Given the description of an element on the screen output the (x, y) to click on. 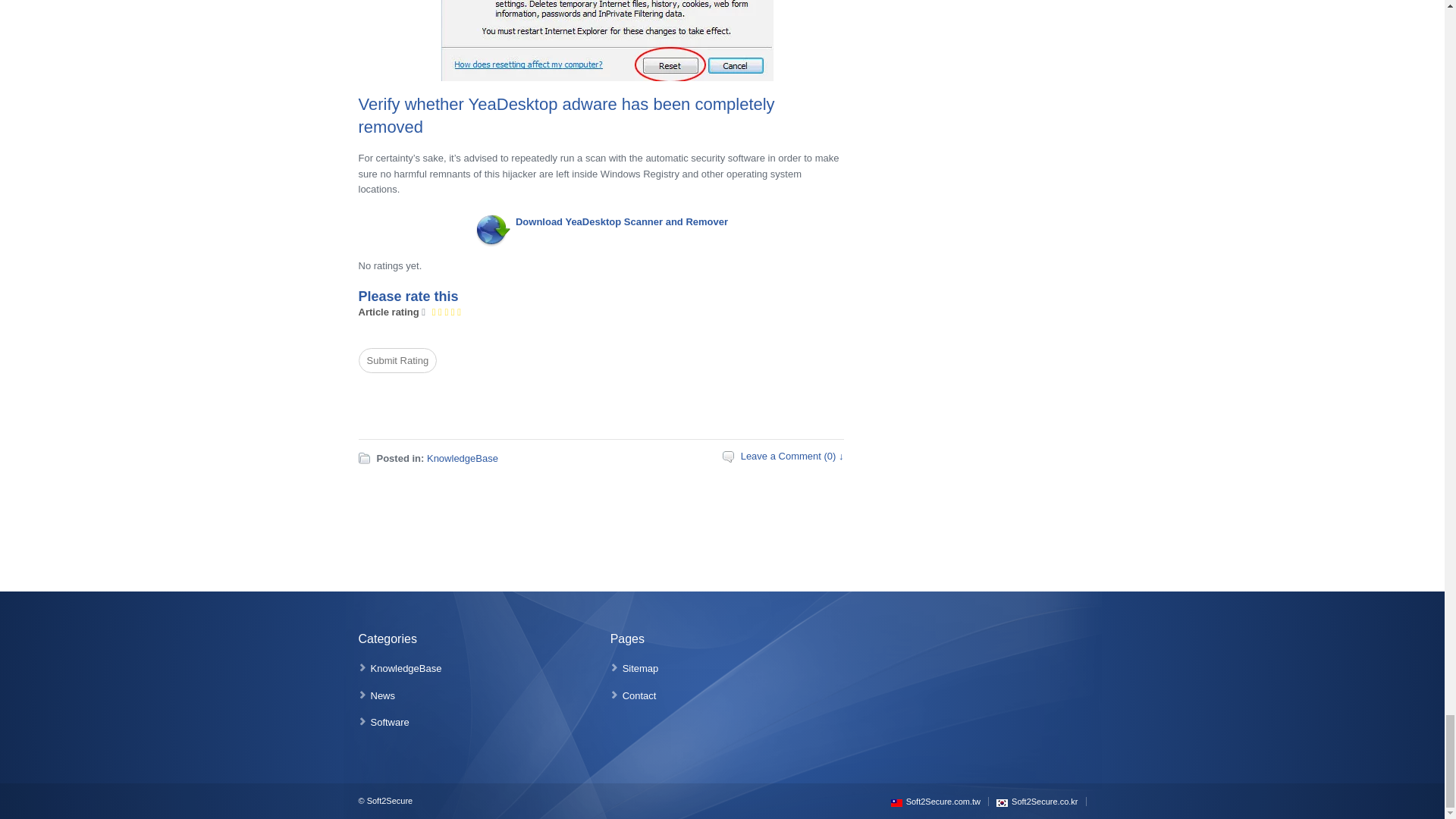
Submit Rating (397, 360)
Submit Rating (397, 360)
Download YeaDesktop Scanner and Remover (621, 221)
